Given the description of an element on the screen output the (x, y) to click on. 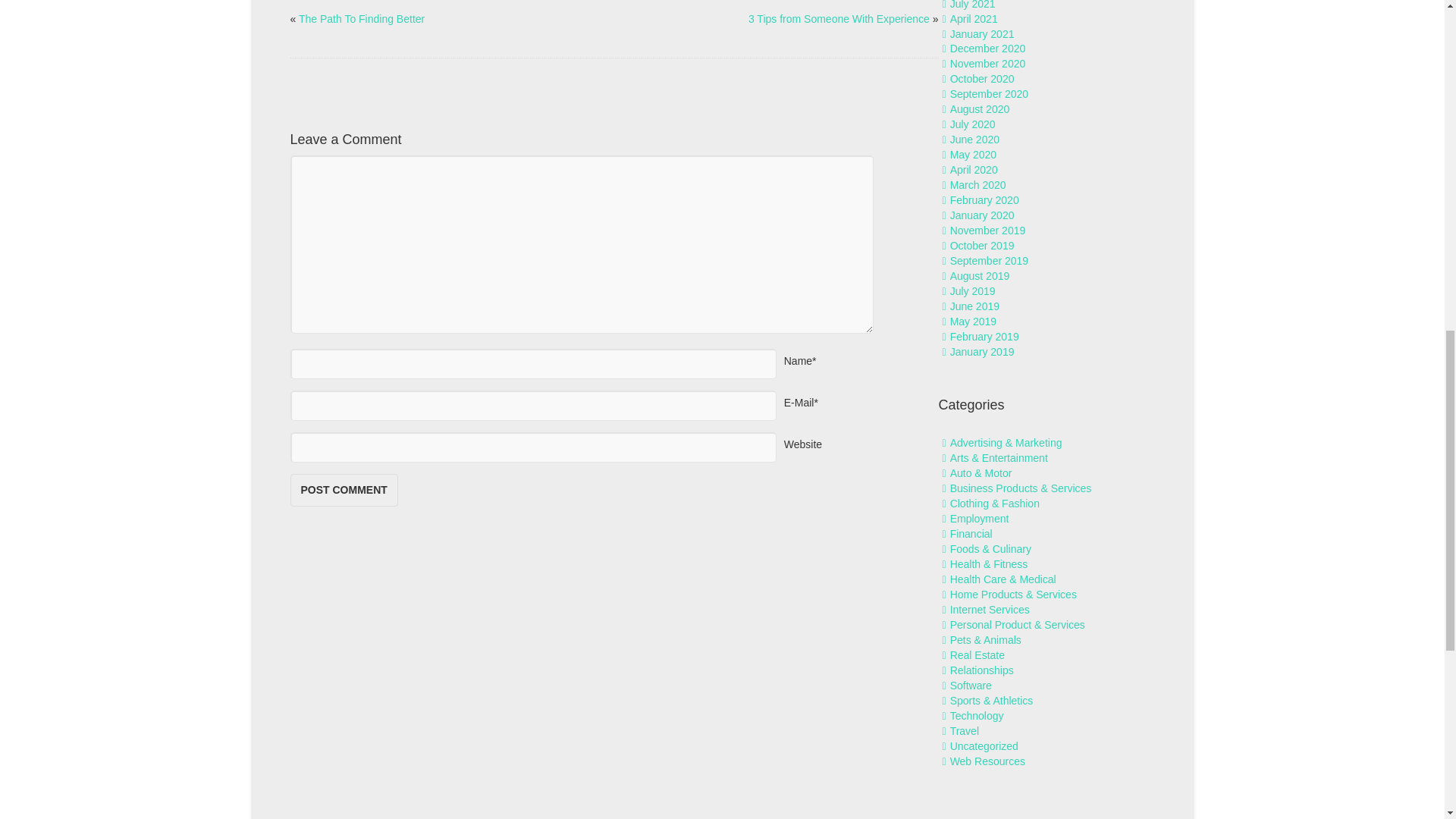
The Path To Finding Better (361, 19)
Post Comment (343, 490)
3 Tips from Someone With Experience (839, 19)
Post Comment (343, 490)
